Given the description of an element on the screen output the (x, y) to click on. 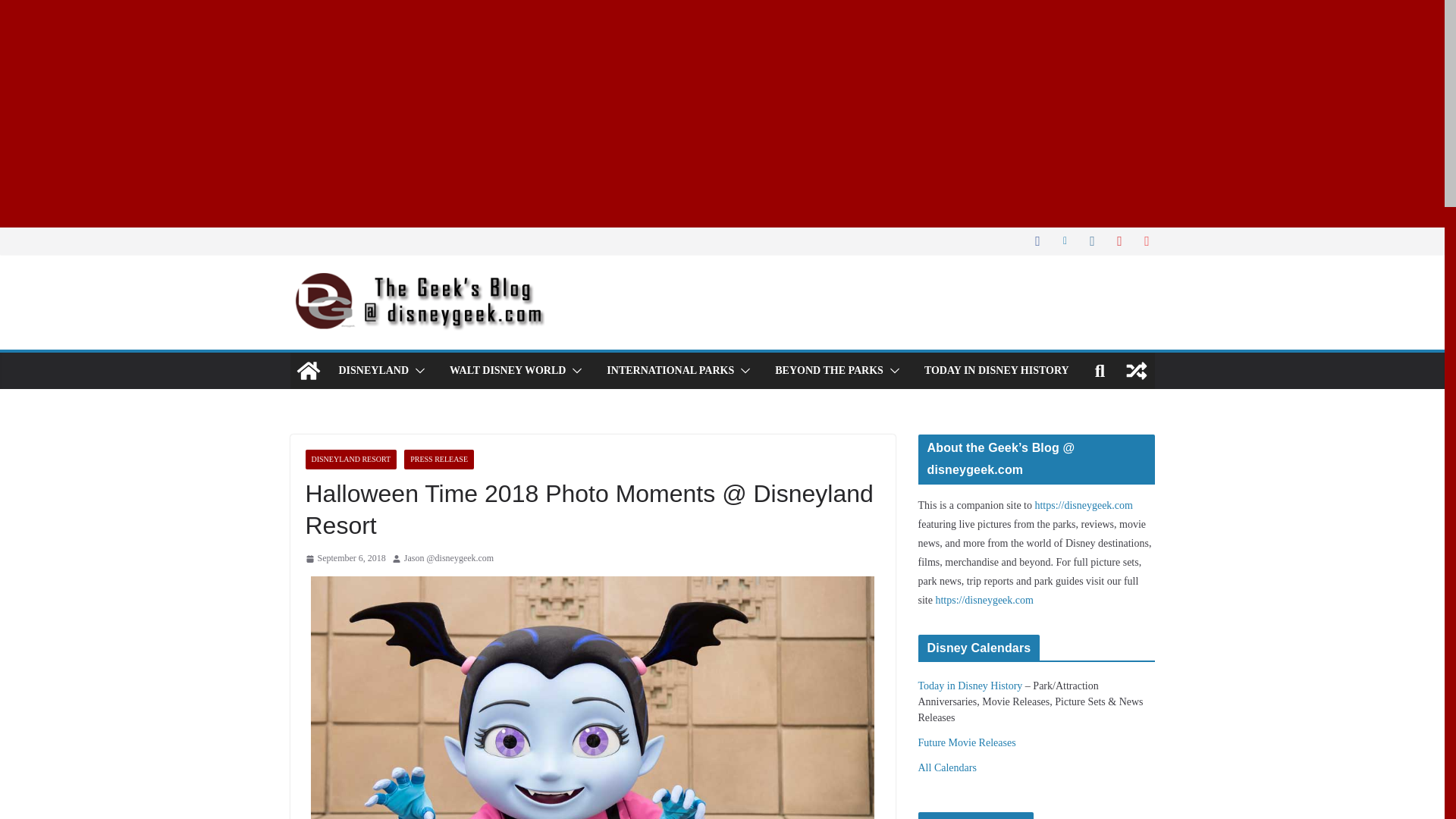
5:09 pm (344, 558)
View a random post (1136, 370)
WALT DISNEY WORLD (507, 370)
INTERNATIONAL PARKS (670, 370)
DISNEYLAND (373, 370)
